Given the description of an element on the screen output the (x, y) to click on. 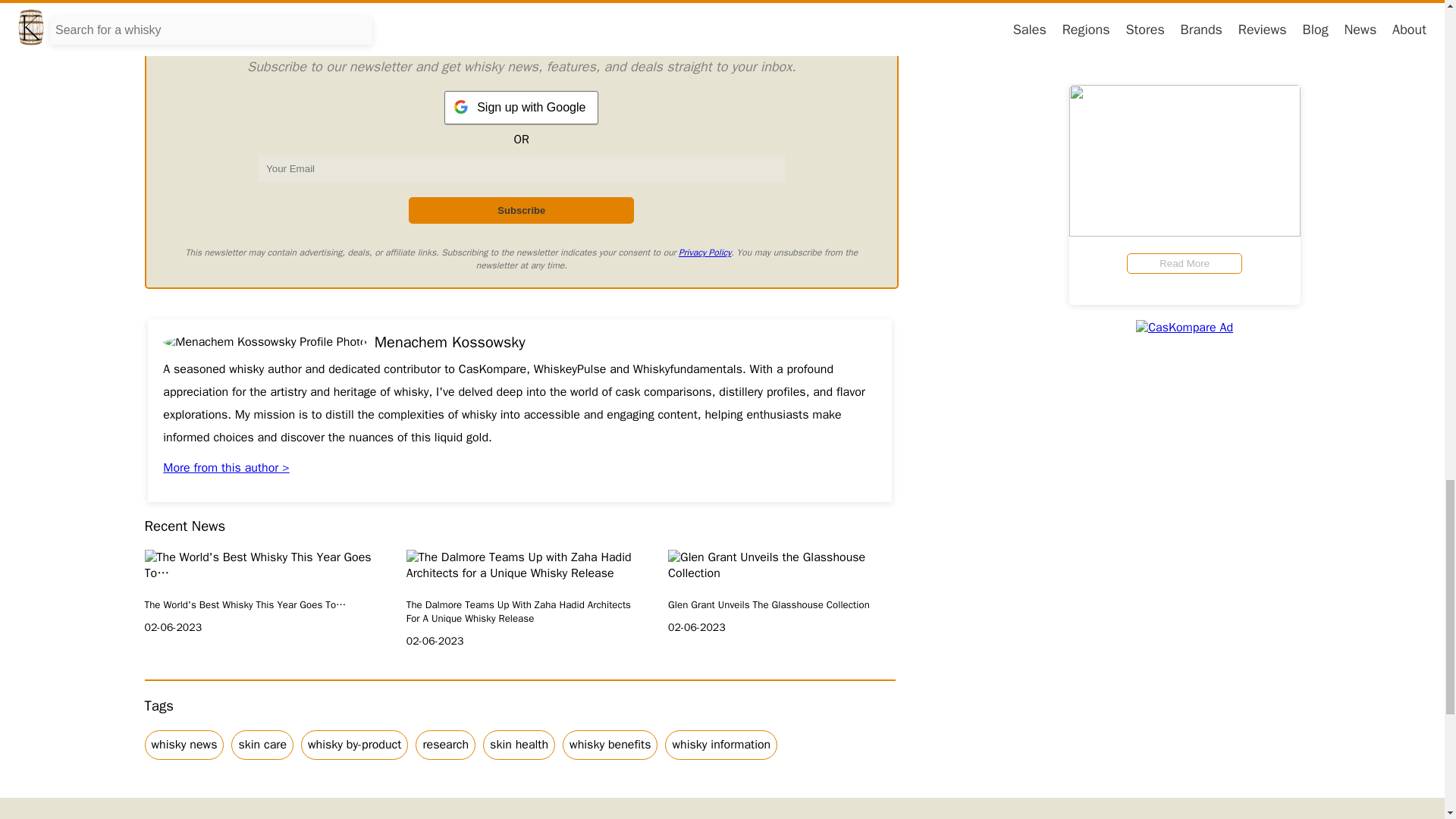
skin care (262, 745)
skin health (518, 745)
research (445, 745)
whisky information (721, 745)
whisky news (184, 745)
Subscribe (521, 210)
Sign up with Google (521, 107)
Subscribe (521, 210)
Sign up with Google (521, 107)
